Given the description of an element on the screen output the (x, y) to click on. 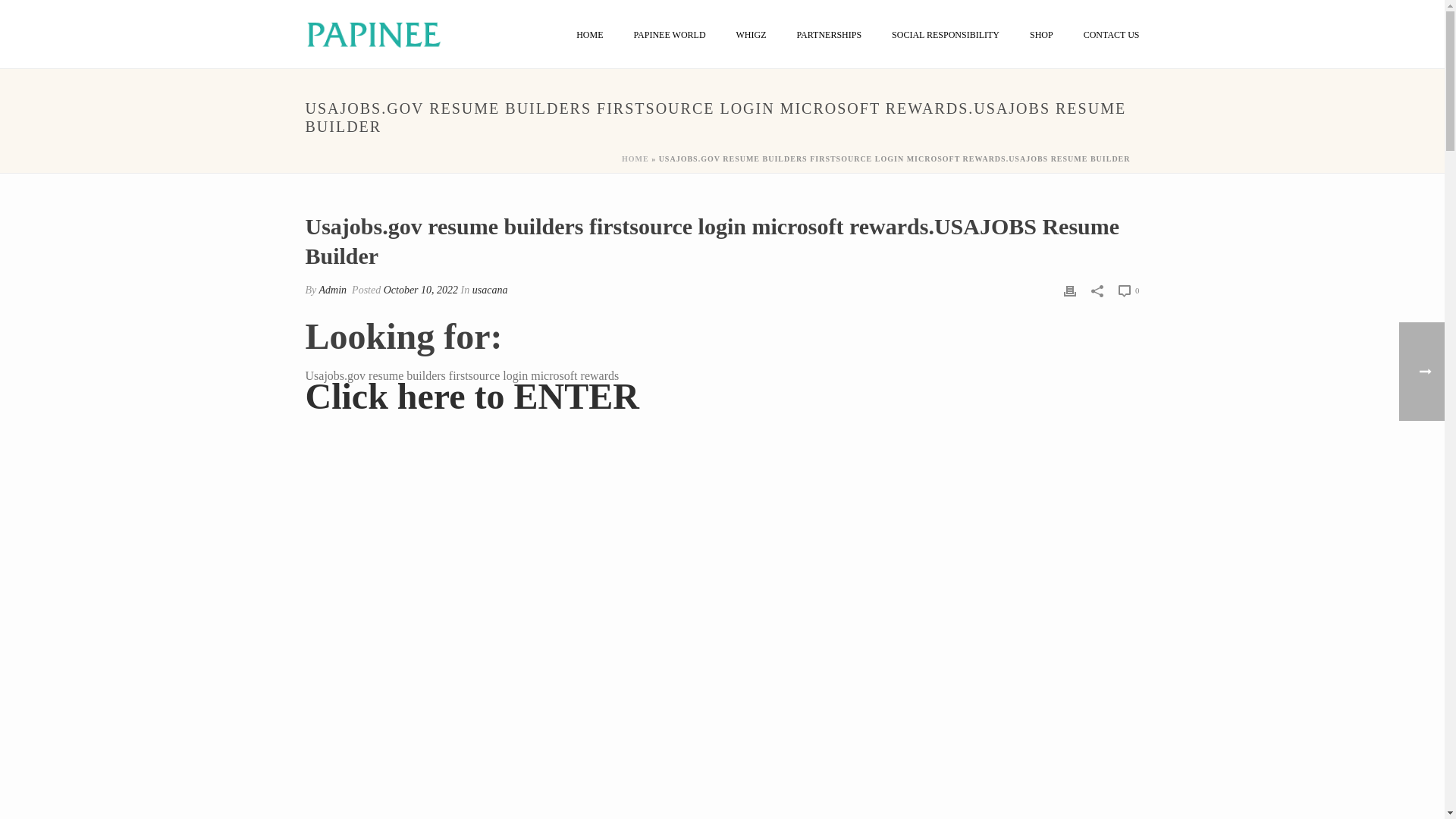
SHOP (1041, 34)
PARTNERSHIPS (829, 34)
usacana (489, 289)
SHOP (1041, 34)
Click here to ENTER (471, 404)
HOME (588, 34)
CONTACT US (1111, 34)
0 (1128, 290)
WHIGZ (750, 34)
PAPINEE WORLD (669, 34)
PAPINEE WORLD (669, 34)
The Children's Edutainment Company (372, 33)
SOCIAL RESPONSIBILITY (945, 34)
Print (1069, 289)
Posts by Admin (332, 289)
